Given the description of an element on the screen output the (x, y) to click on. 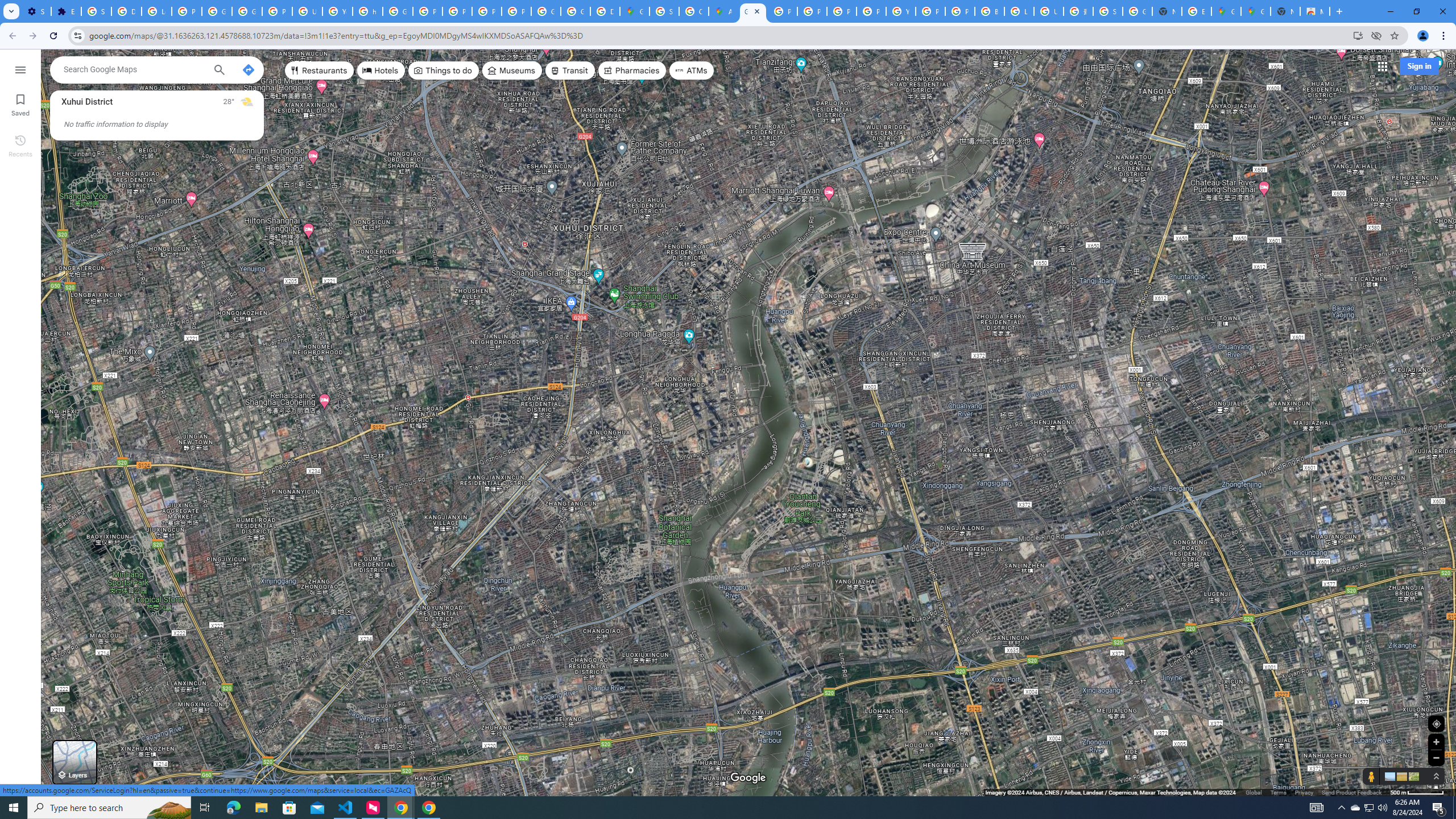
Search Google Maps (133, 69)
Create your Google Account (693, 11)
Global (1253, 792)
Sign in - Google Accounts (1107, 11)
Privacy Help Center - Policies Help (841, 11)
